Given the description of an element on the screen output the (x, y) to click on. 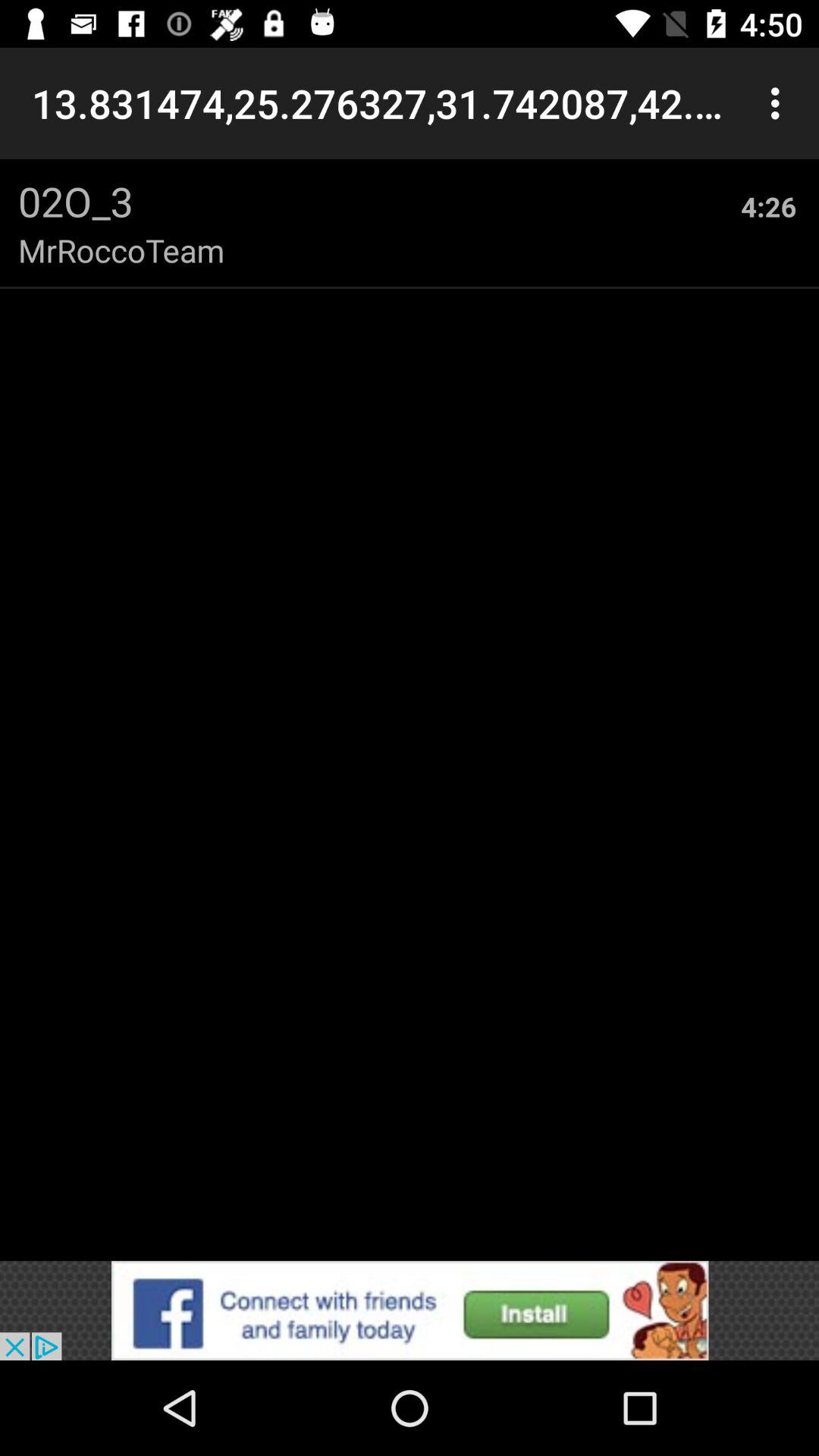
open advertisement (409, 1310)
